Given the description of an element on the screen output the (x, y) to click on. 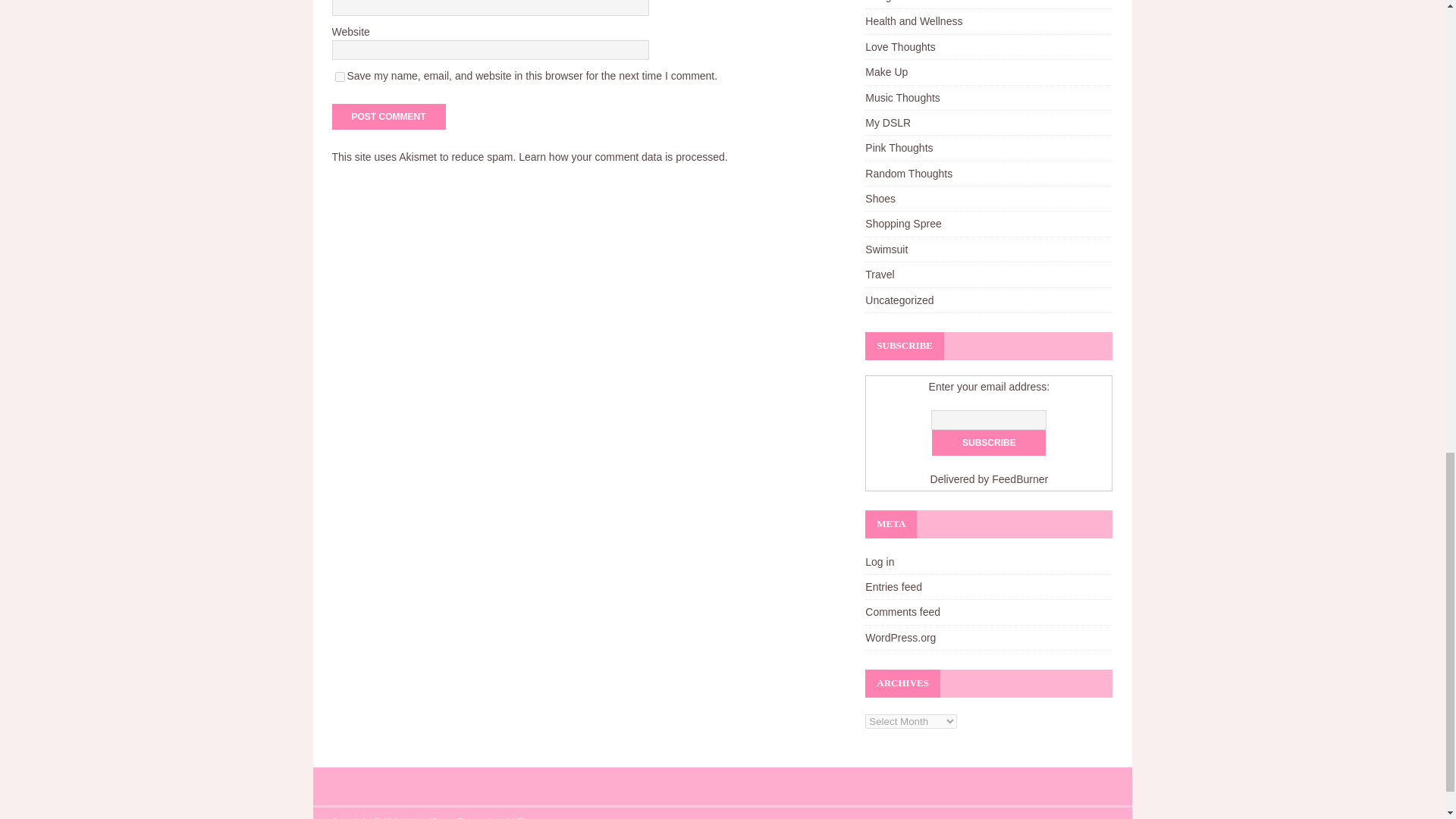
yes (339, 76)
Subscribe (988, 442)
Learn how your comment data is processed (621, 156)
Post Comment (388, 116)
Post Comment (388, 116)
